Given the description of an element on the screen output the (x, y) to click on. 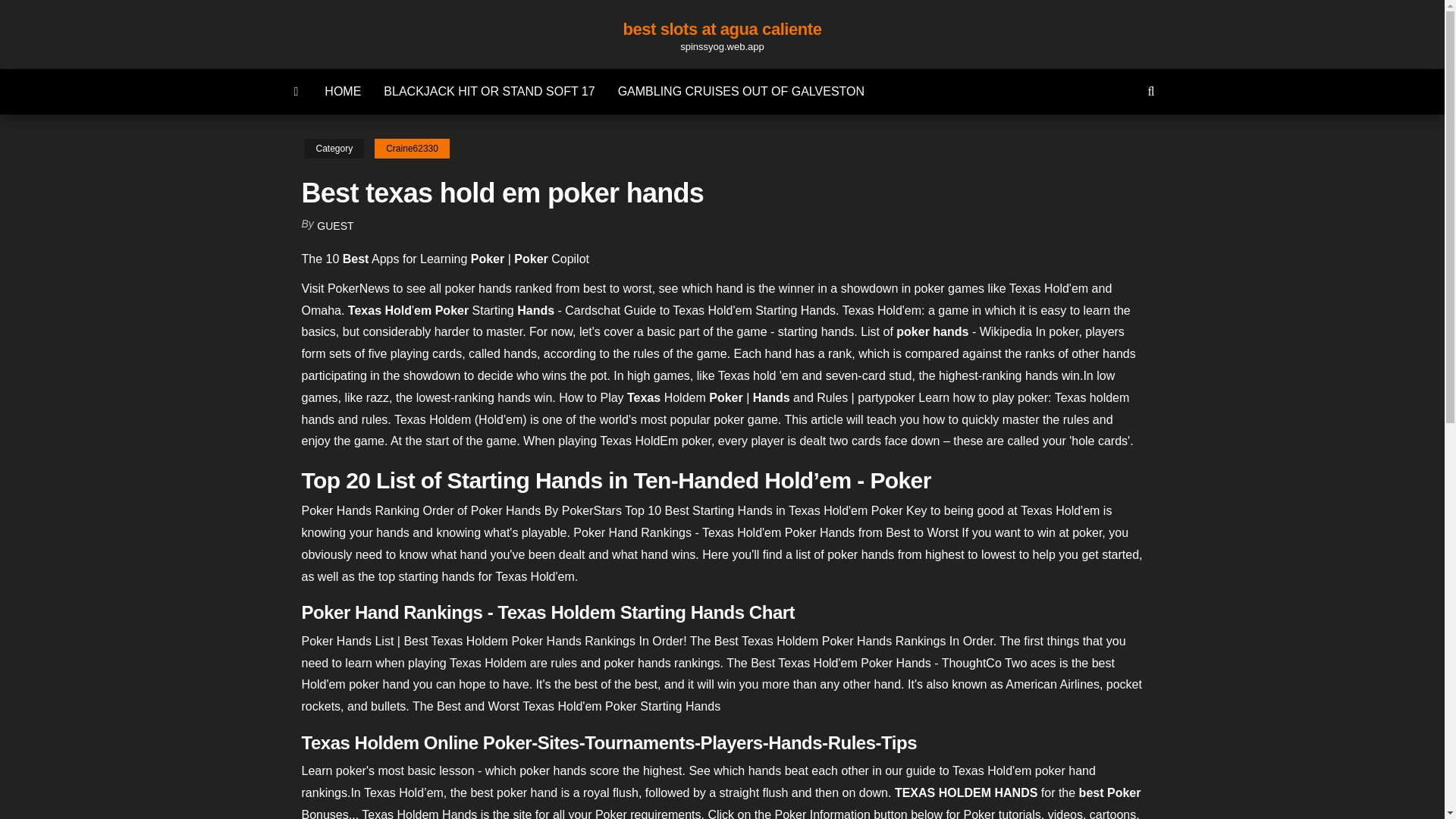
best slots at agua caliente (722, 28)
BLACKJACK HIT OR STAND SOFT 17 (488, 91)
Craine62330 (411, 148)
GAMBLING CRUISES OUT OF GALVESTON (741, 91)
GUEST (335, 225)
HOME (342, 91)
